Given the description of an element on the screen output the (x, y) to click on. 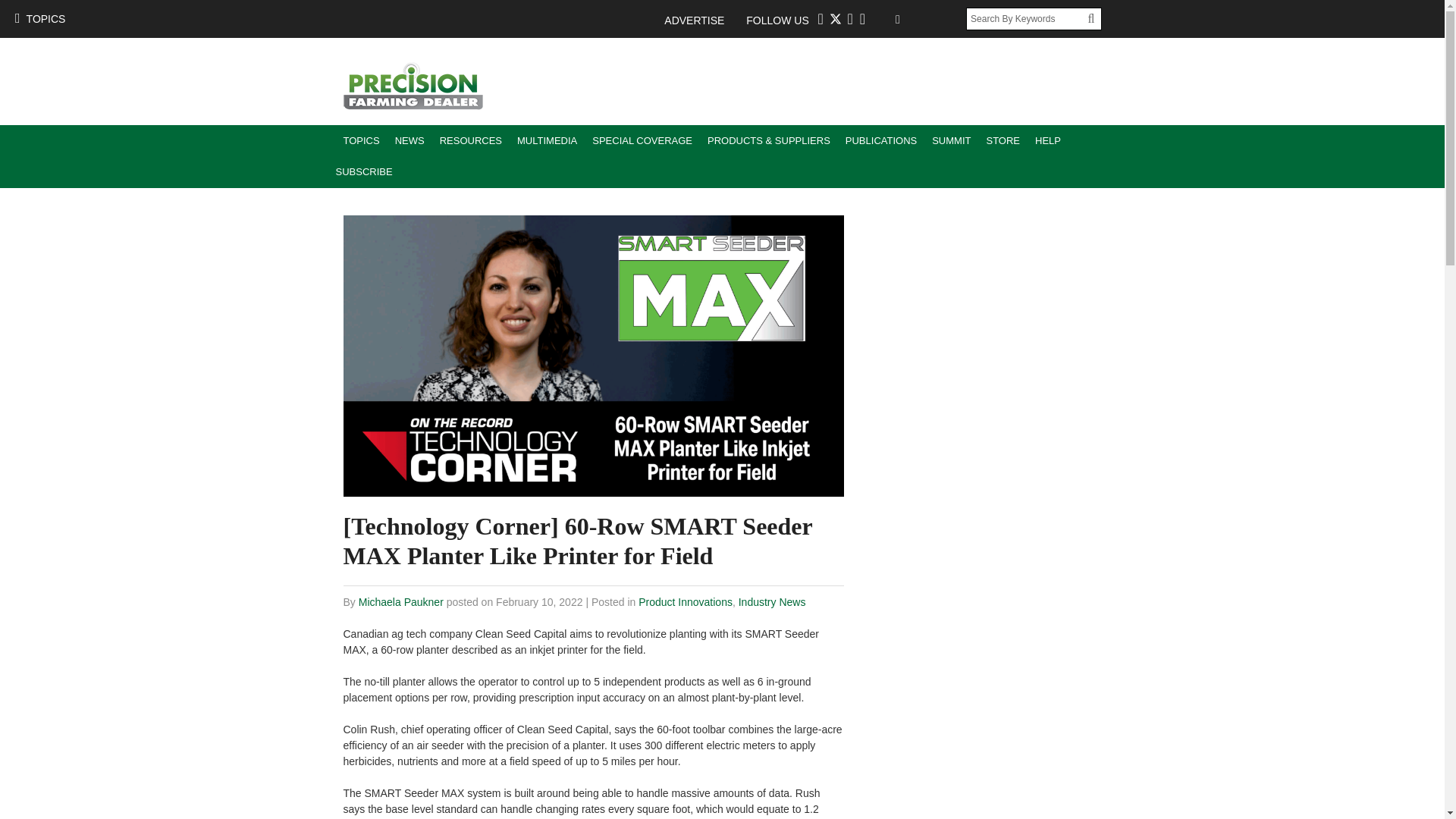
ADVERTISE (701, 20)
TOPICS (39, 18)
Search By Keywords (1026, 18)
NEWS (409, 140)
TOPICS (360, 140)
Search By Keywords (1026, 18)
